Given the description of an element on the screen output the (x, y) to click on. 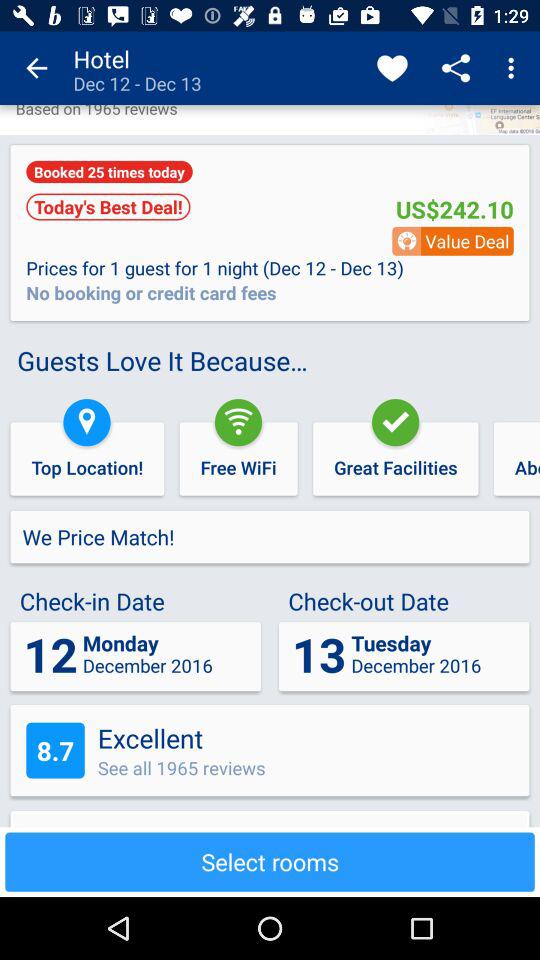
click item next to hotel dec 12 app (392, 67)
